Given the description of an element on the screen output the (x, y) to click on. 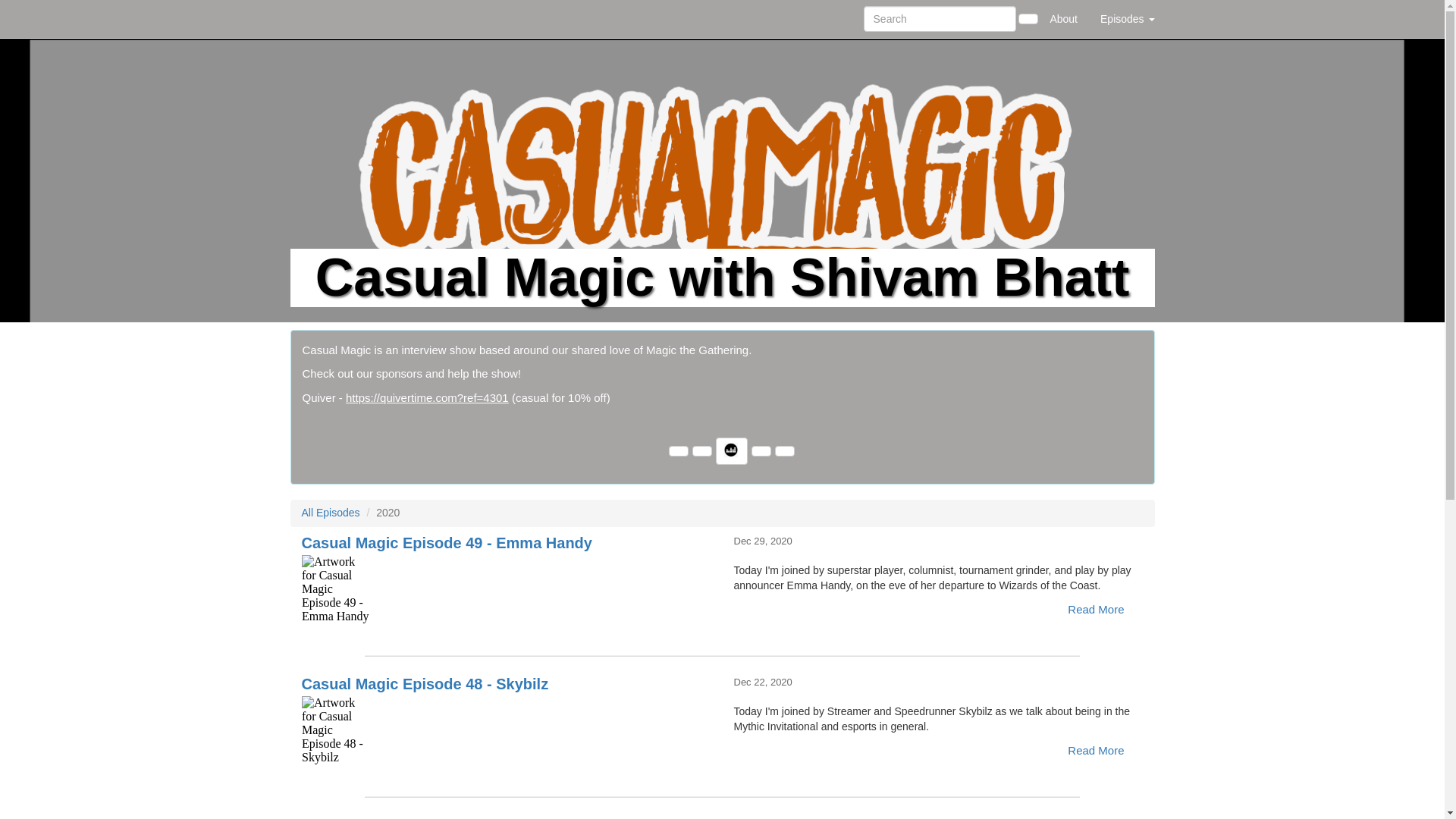
About (1063, 18)
Casual Magic Episode 48 - Skybilz (506, 730)
Episodes (1127, 18)
Casual Magic Episode 49 - Emma Handy (506, 589)
Home Page (320, 18)
